Given the description of an element on the screen output the (x, y) to click on. 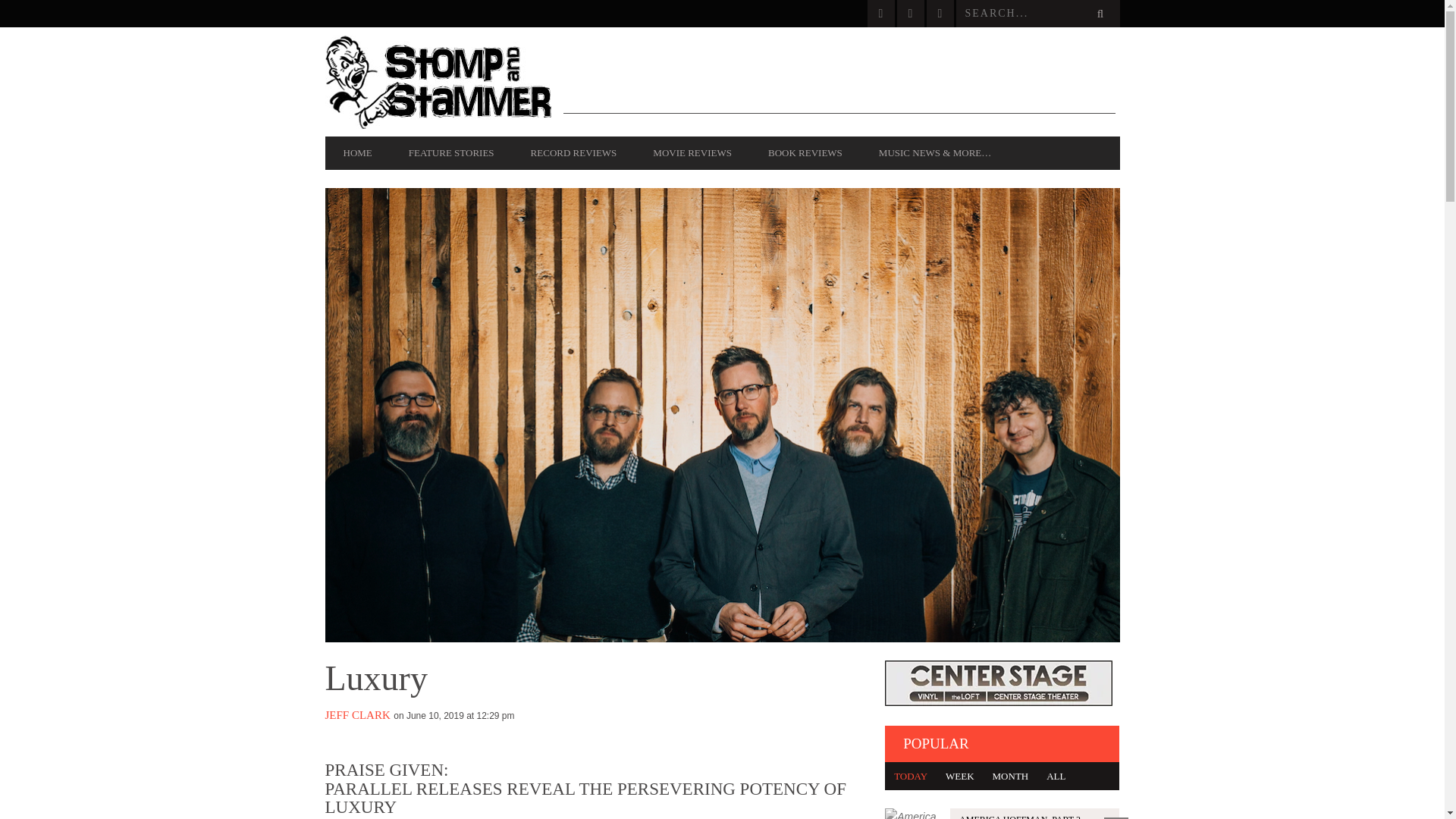
Advertisement (839, 79)
Stomp And Stammer (443, 81)
BOOK REVIEWS (804, 153)
FEATURE STORIES (451, 153)
America Hoffman, Part 2 (1002, 813)
Posts by Jeff Clark (357, 715)
RECORD REVIEWS (573, 153)
HOME (357, 153)
MOVIE REVIEWS (691, 153)
